Given the description of an element on the screen output the (x, y) to click on. 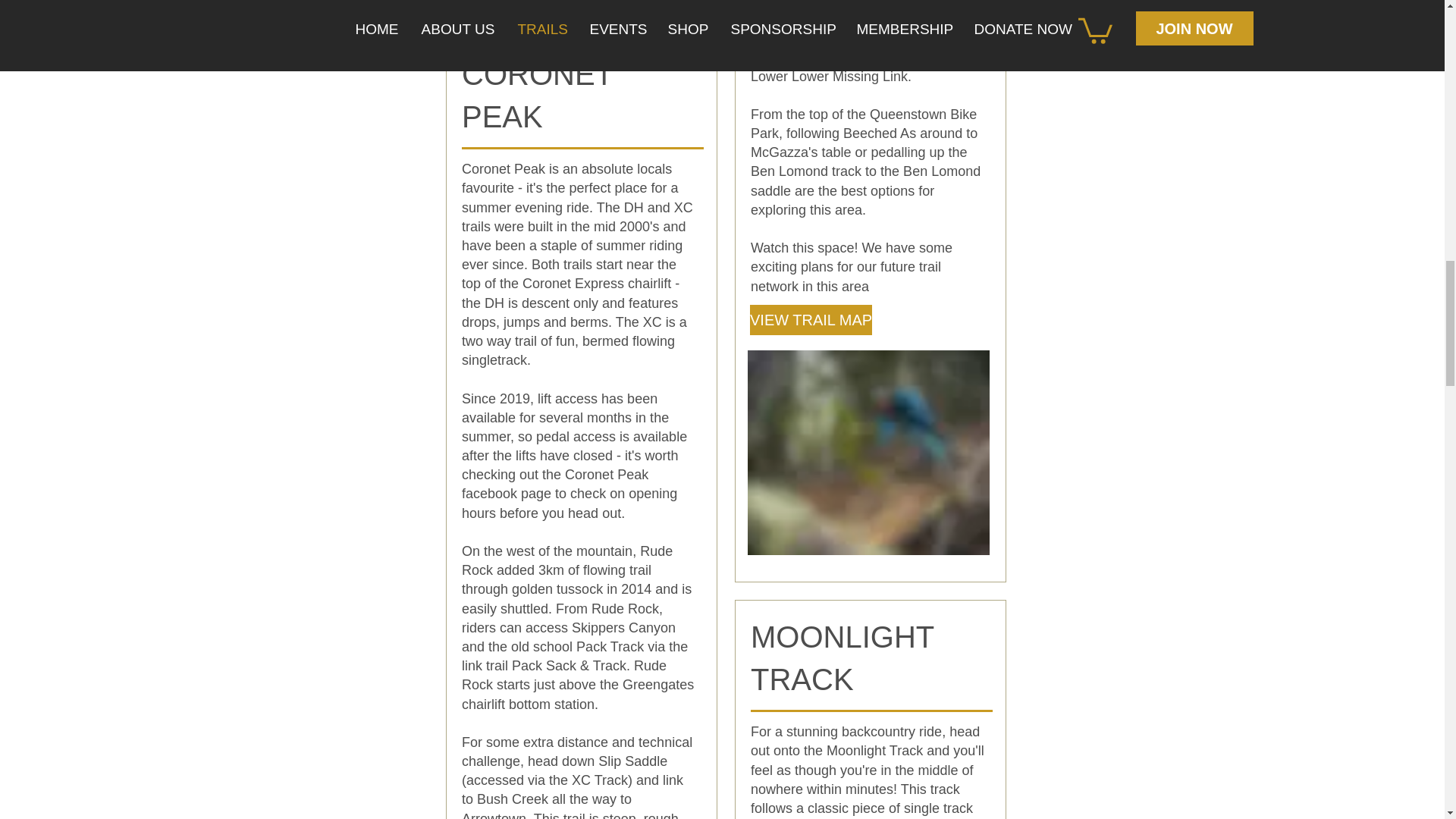
VIEW TRAIL MAP (810, 319)
